Given the description of an element on the screen output the (x, y) to click on. 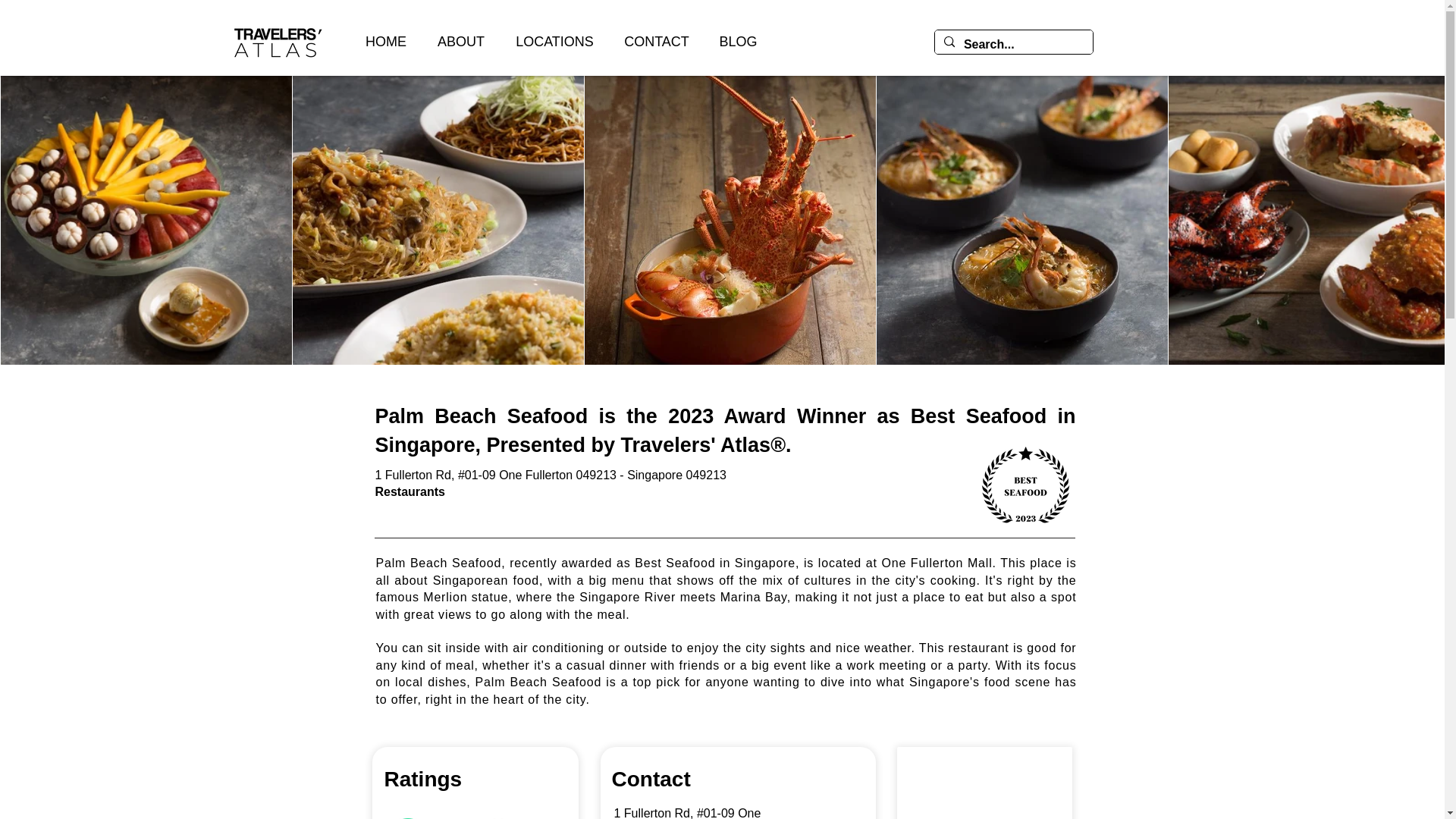
5.png (1024, 484)
ABOUT (461, 41)
BLOG (737, 41)
CONTACT (655, 41)
HOME (385, 41)
